Given the description of an element on the screen output the (x, y) to click on. 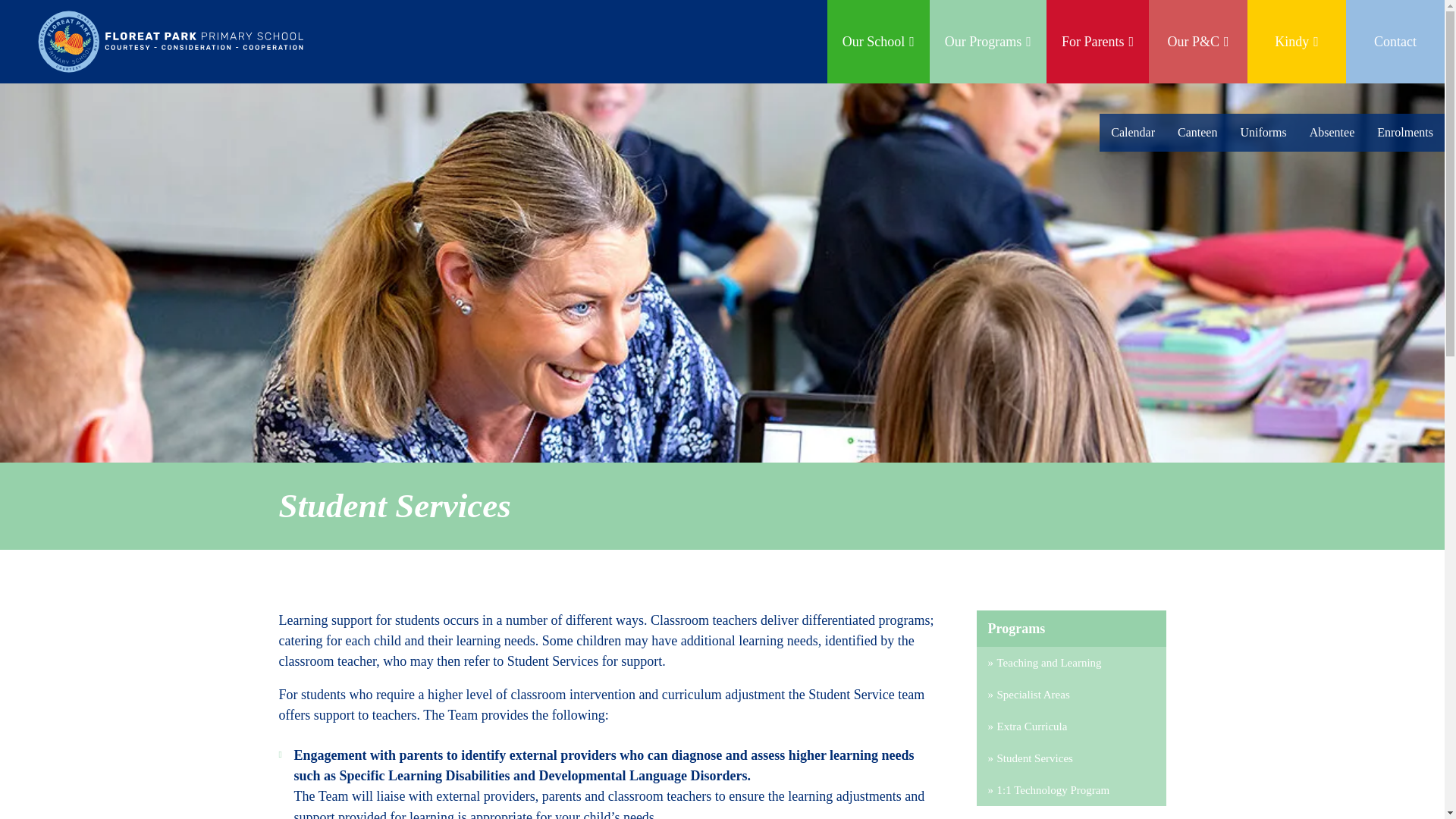
Our School (878, 41)
